Given the description of an element on the screen output the (x, y) to click on. 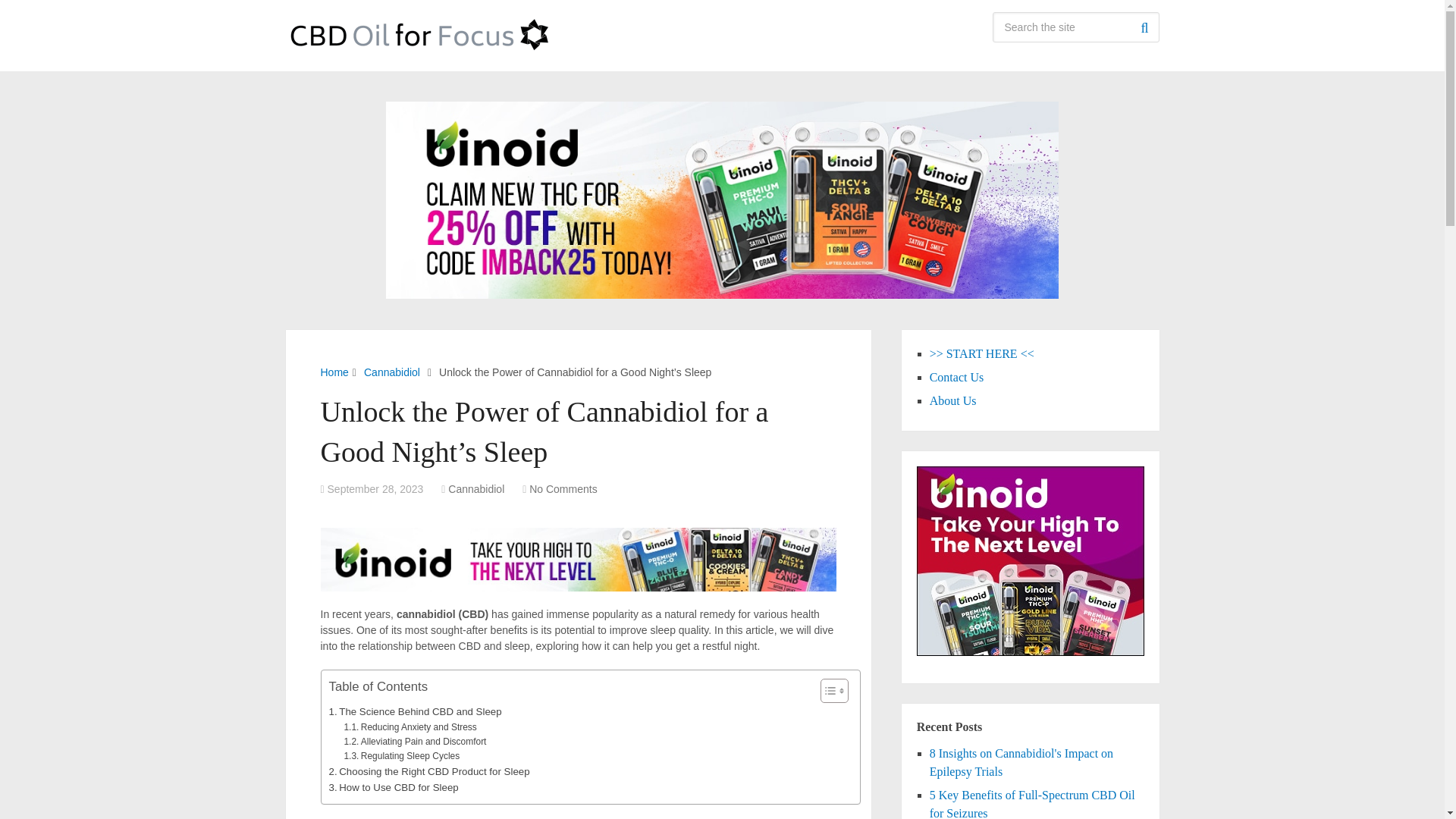
8 Insights on Cannabidiol's Impact on Epilepsy Trials (1021, 762)
Reducing Anxiety and Stress (409, 727)
5 Key Benefits of Full-Spectrum CBD Oil for Seizures (1032, 803)
How to Use CBD for Sleep (393, 787)
The Science Behind CBD and Sleep (415, 711)
The Science Behind CBD and Sleep (415, 711)
Cannabidiol (392, 372)
Choosing the Right CBD Product for Sleep (429, 771)
Choosing the Right CBD Product for Sleep (429, 771)
No Comments (562, 489)
About Us (953, 400)
Reducing Anxiety and Stress (409, 727)
Home (333, 372)
Regulating Sleep Cycles (401, 756)
Cannabidiol (475, 489)
